Given the description of an element on the screen output the (x, y) to click on. 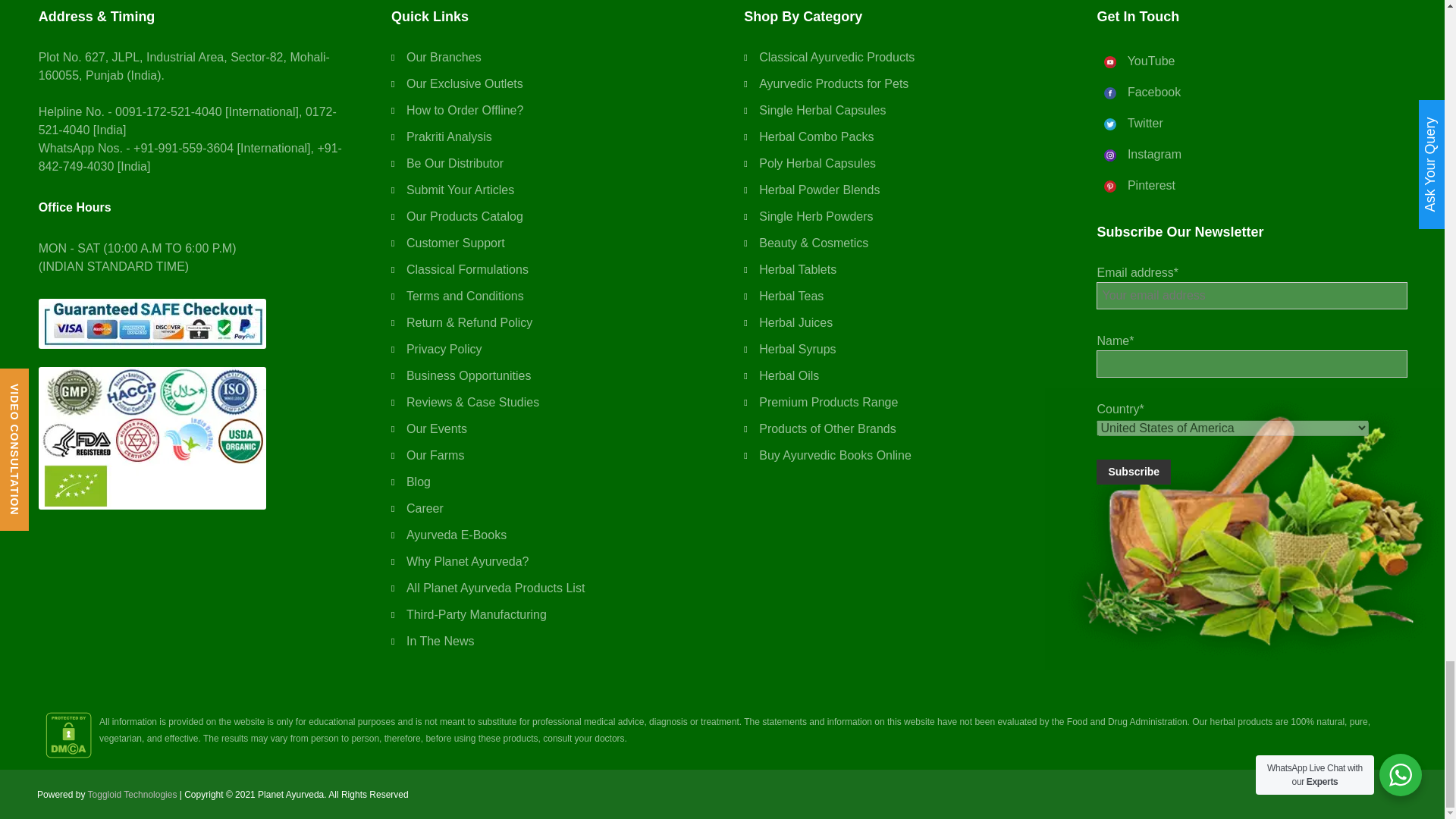
DMCA.com Protection Status (68, 734)
Subscribe (1133, 471)
